Given the description of an element on the screen output the (x, y) to click on. 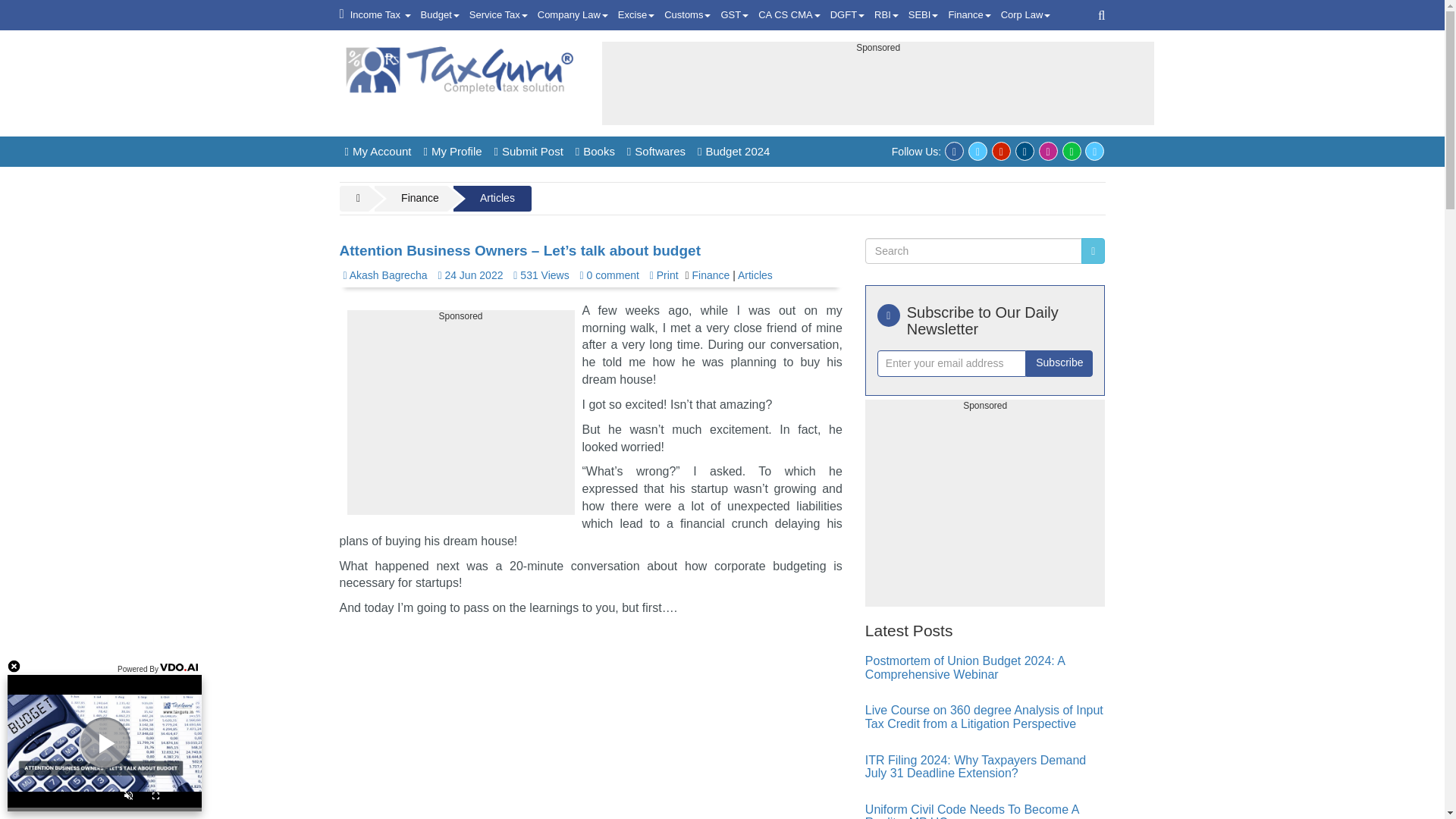
Service Tax Article News Notifications Judgments (498, 15)
Excise (636, 15)
Income Tax (380, 15)
Customs (687, 15)
Service Tax (498, 15)
Union Budget 2024 Article News Notifications (439, 15)
Company Law (572, 15)
Budget (439, 15)
Income Tax Related Information (380, 15)
